Given the description of an element on the screen output the (x, y) to click on. 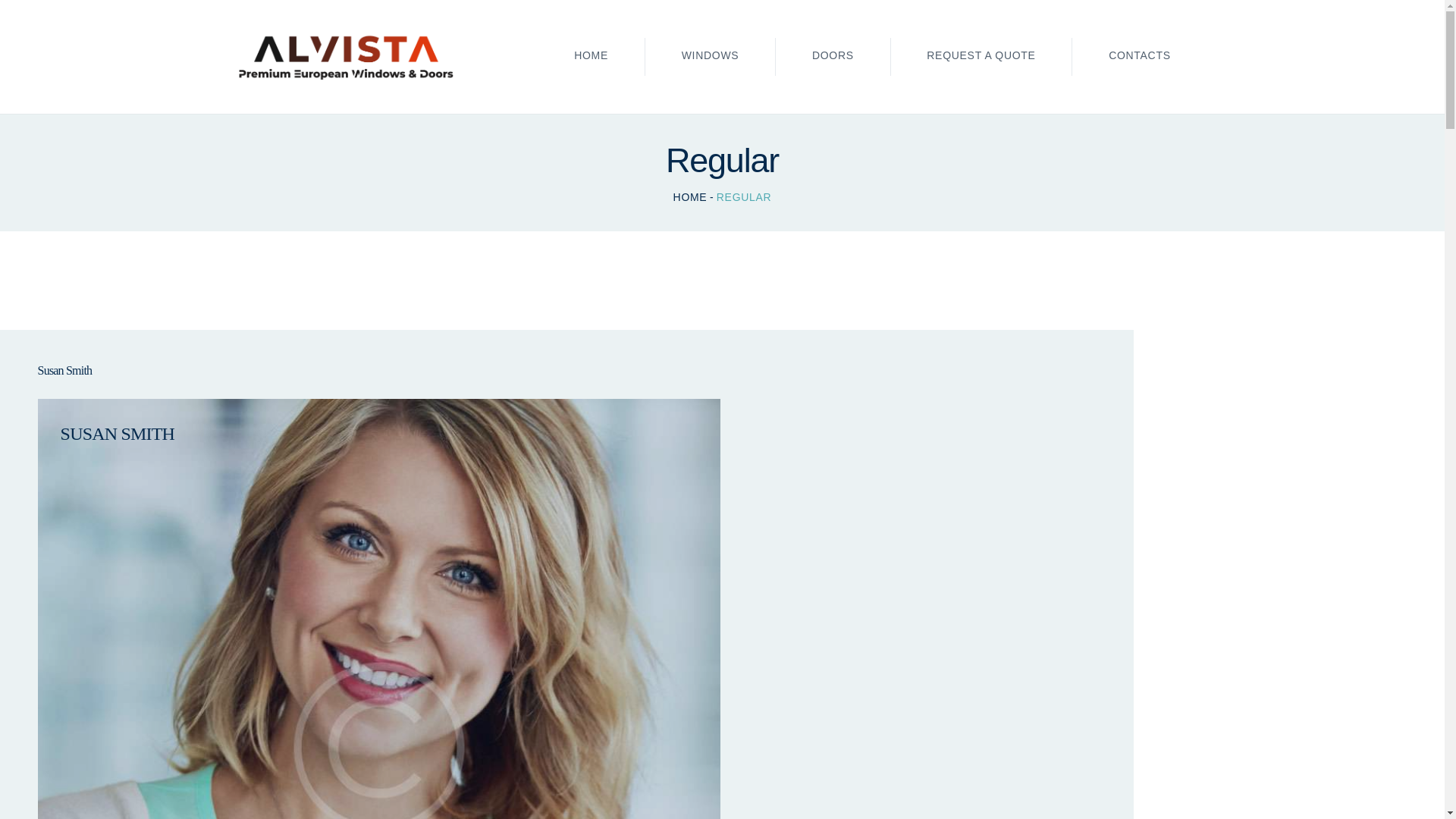
HOME (591, 56)
WINDOWS (709, 56)
REQUEST A QUOTE (981, 56)
Susan Smith (566, 370)
DOORS (832, 56)
HOME (689, 197)
SUSAN SMITH (379, 434)
CONTACTS (1139, 56)
